Given the description of an element on the screen output the (x, y) to click on. 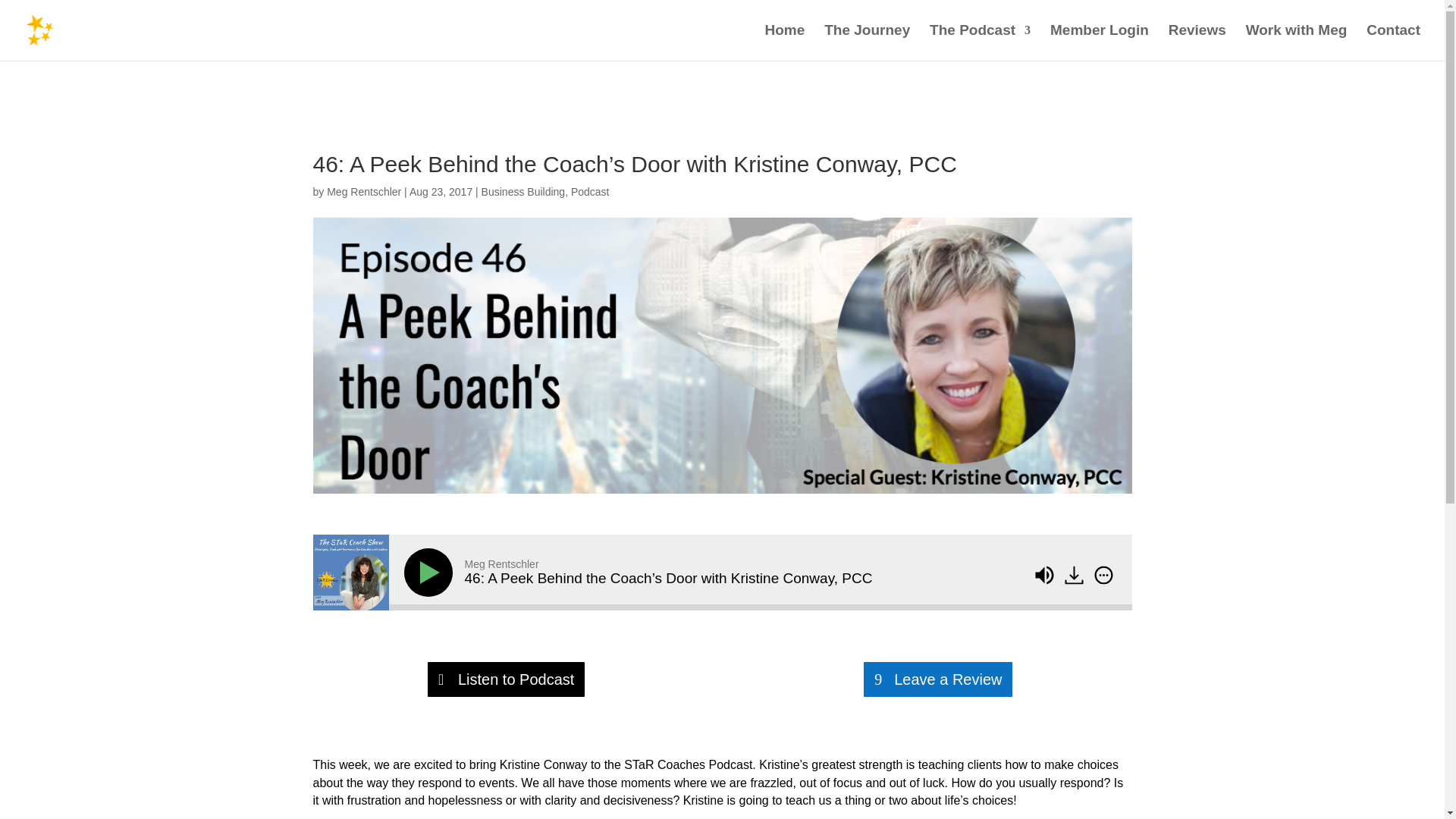
Business Building (523, 191)
Contact (1394, 42)
Leave a Review (937, 679)
Listen to Podcast (506, 679)
Home (785, 42)
Download (1075, 576)
Member Login (1098, 42)
Download (1074, 574)
Podcast (590, 191)
The Podcast (980, 42)
Work with Meg (1297, 42)
Meg Rentschler (363, 191)
Posts by Meg Rentschler (363, 191)
More (1103, 574)
The Journey (867, 42)
